Given the description of an element on the screen output the (x, y) to click on. 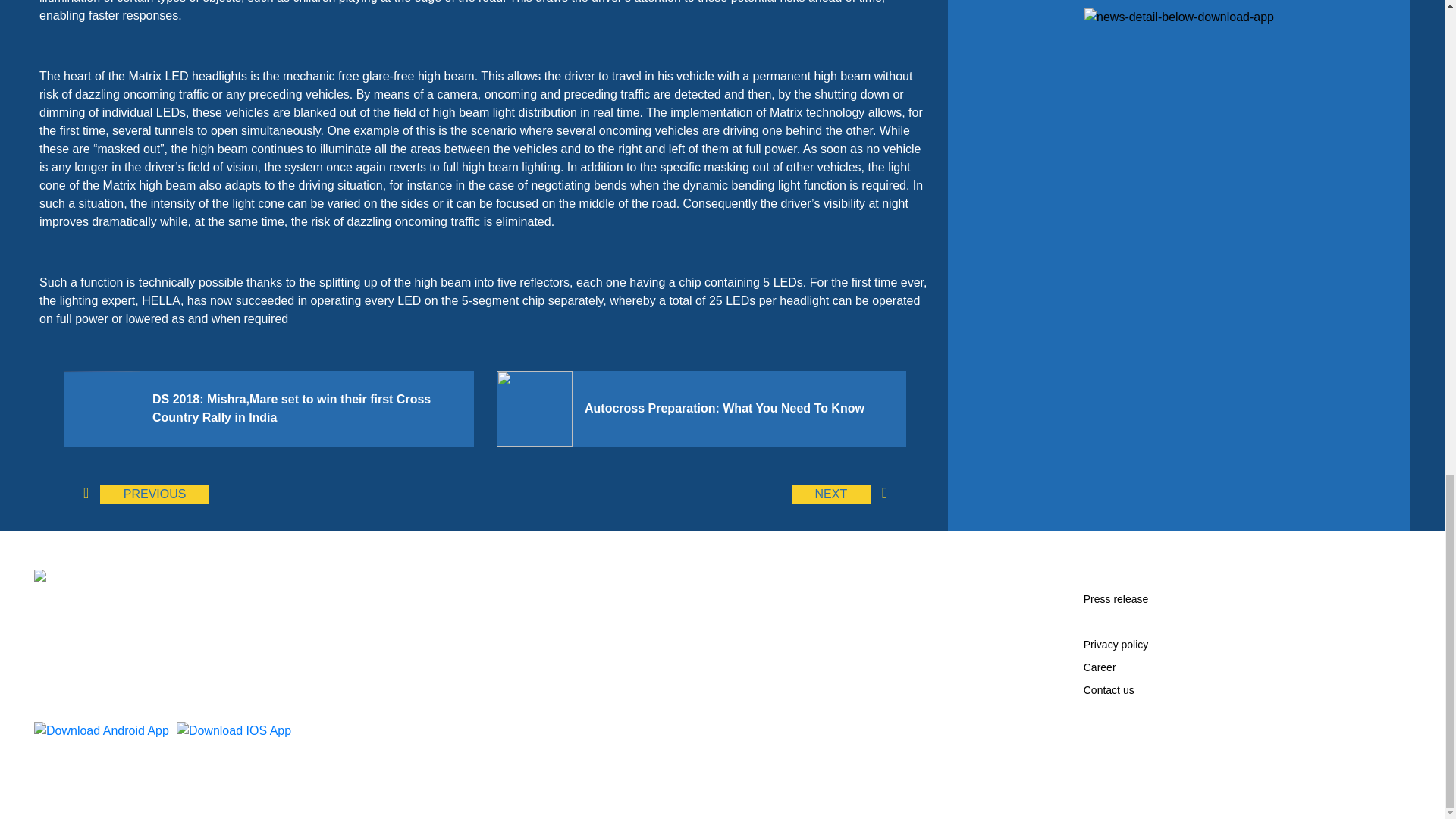
Youtube (1143, 725)
Download IOS App (233, 730)
Instagram (1167, 725)
Twitter (1193, 725)
Facebook (1094, 725)
Download Android App (100, 730)
Linkedin (1118, 725)
